Given the description of an element on the screen output the (x, y) to click on. 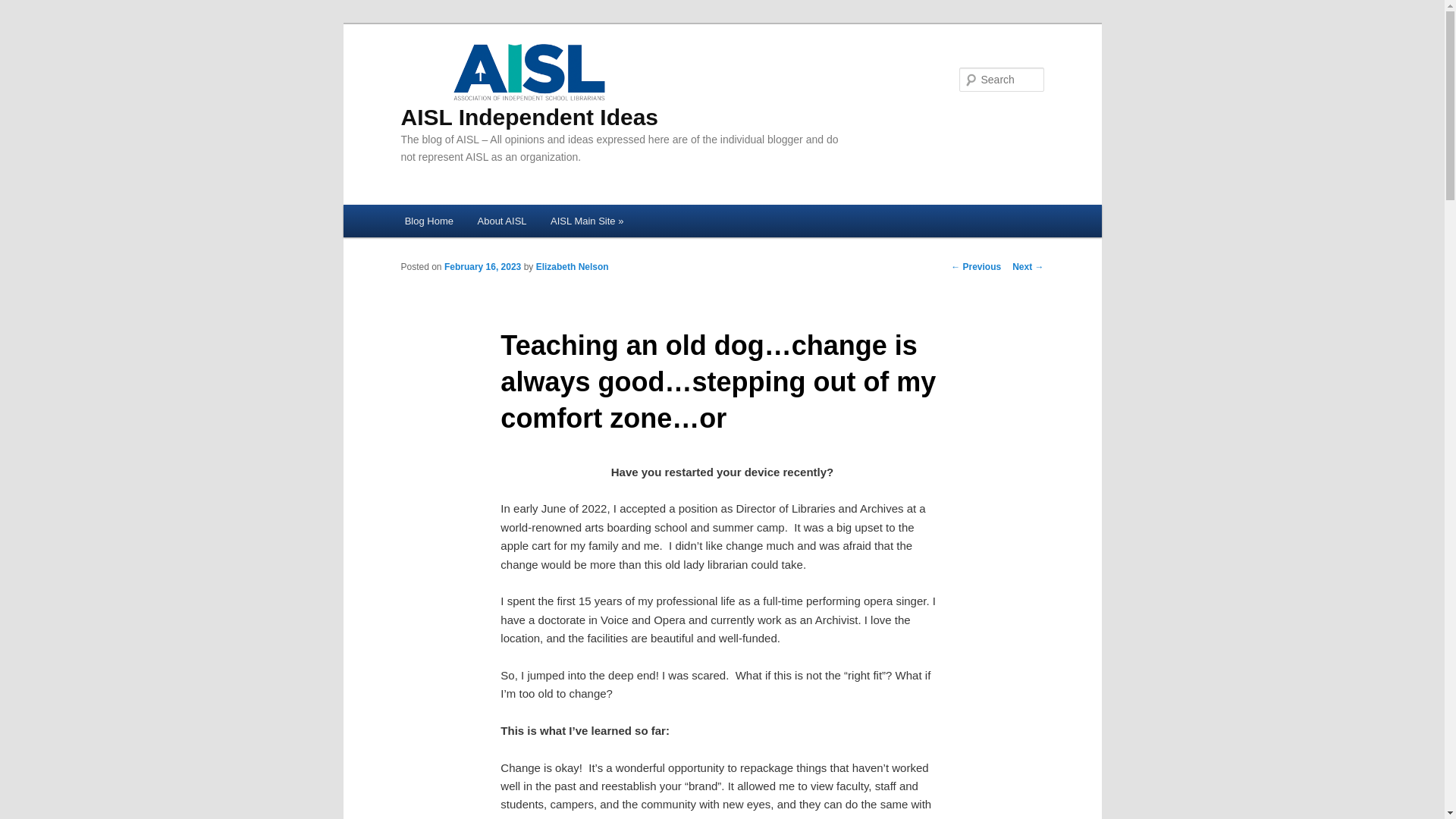
Elizabeth Nelson (571, 266)
AISL Independent Ideas (529, 84)
View all posts by Elizabeth Nelson (571, 266)
About AISL (501, 220)
Search (24, 8)
February 16, 2023 (482, 266)
Blog Home (429, 220)
8:00 am (482, 266)
